Given the description of an element on the screen output the (x, y) to click on. 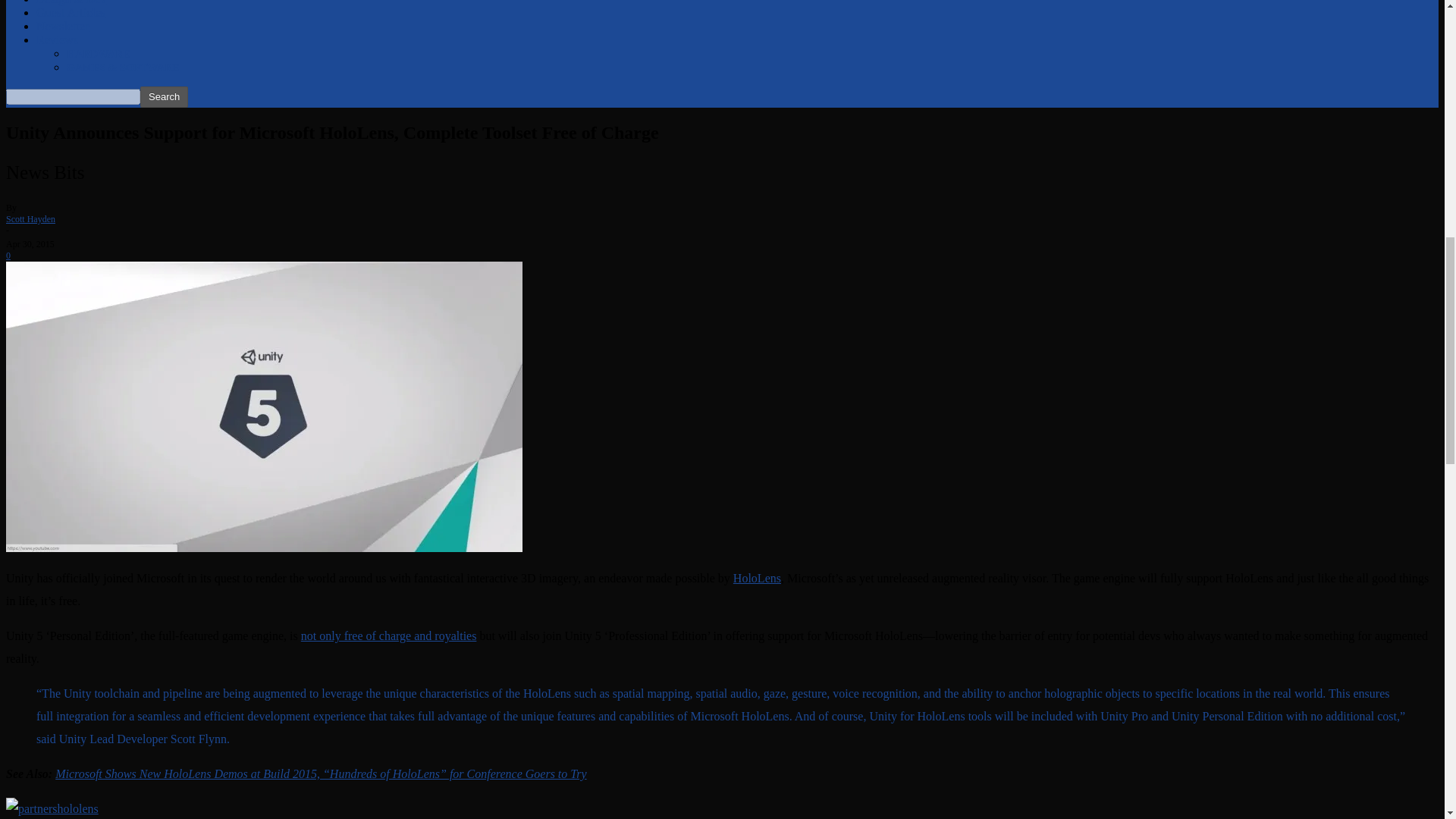
HARDWARE (97, 53)
Search (163, 96)
Reviews (57, 39)
Scott Hayden (30, 218)
not only free of charge and royalties (389, 635)
Guest Articles (70, 11)
Search (163, 96)
Newsletter (62, 25)
HoloLens (756, 577)
